Given the description of an element on the screen output the (x, y) to click on. 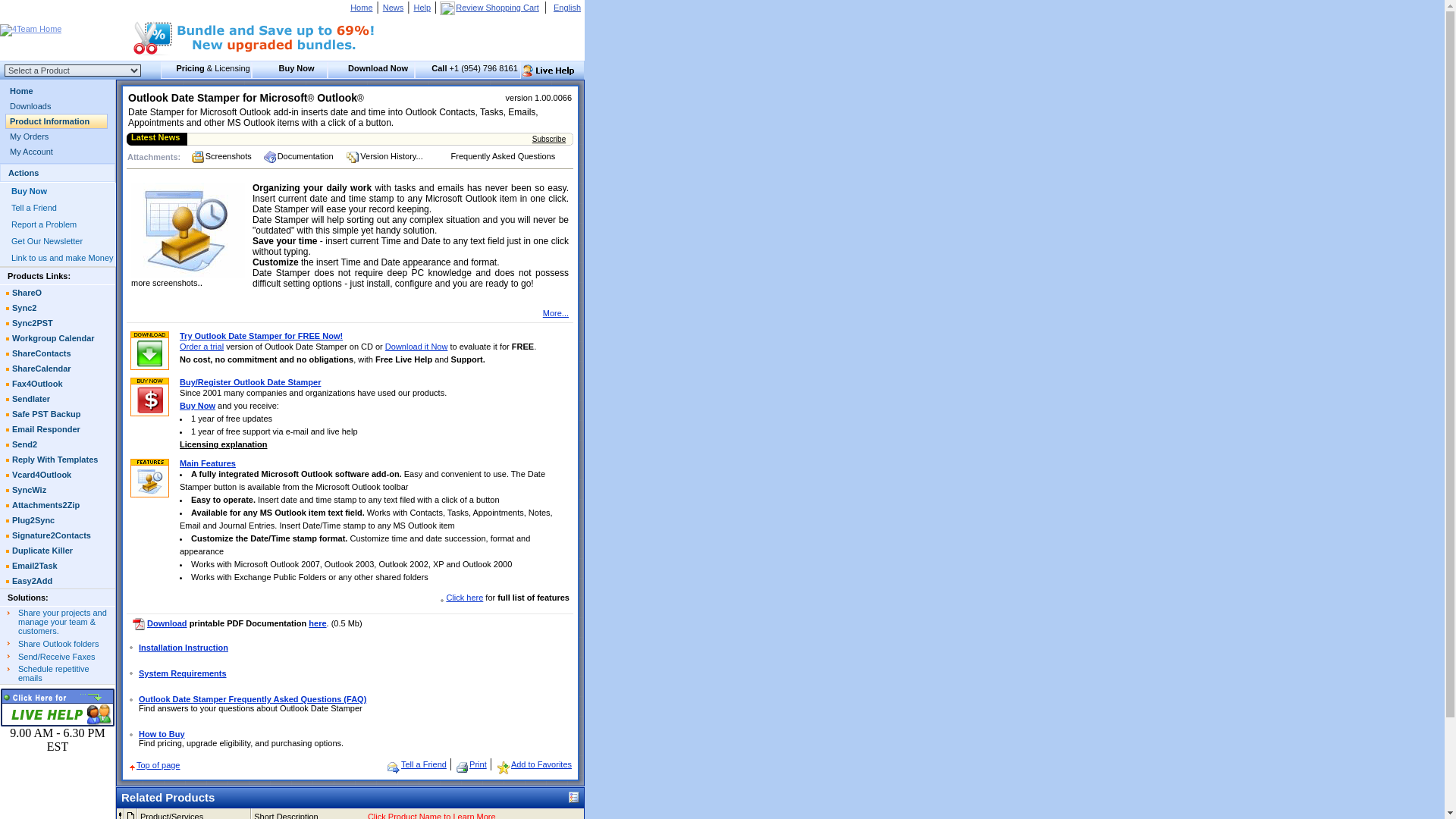
My Account (58, 151)
Download Outlook Date Stamper (370, 69)
Sync2 (57, 307)
Sync2PST (57, 322)
Report a Problem (44, 224)
Click to see more screenshots (187, 278)
SyncWiz (57, 489)
Workgroup Calendar (57, 337)
Send2 (57, 444)
Plug2Sync (57, 519)
Downloads (58, 105)
News (392, 7)
Review Shopping Cart (447, 7)
Contact Us (58, 707)
Home (360, 7)
